Given the description of an element on the screen output the (x, y) to click on. 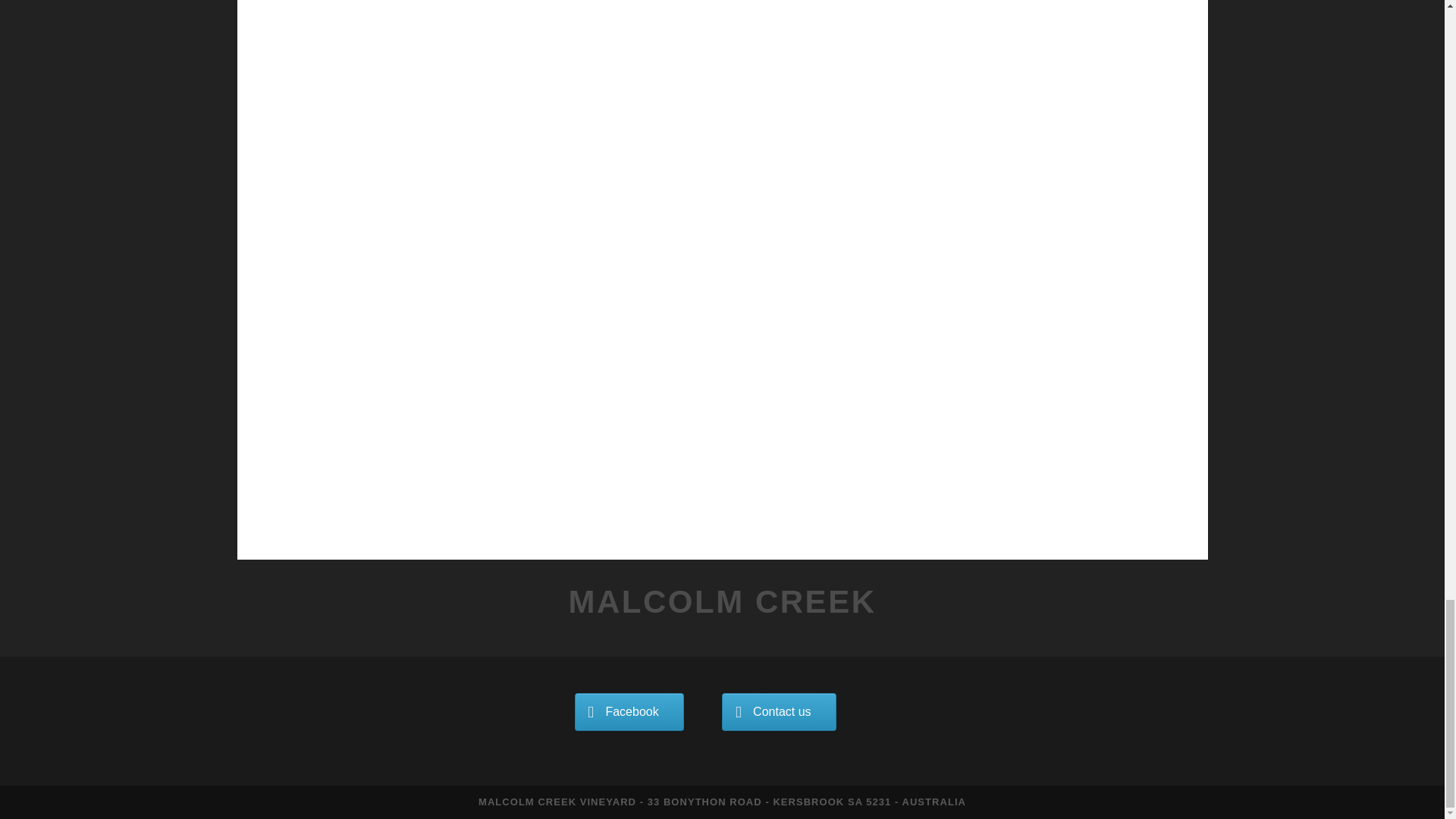
Contact us (778, 711)
Facebook (629, 711)
MALCOLM CREEK (721, 601)
